Given the description of an element on the screen output the (x, y) to click on. 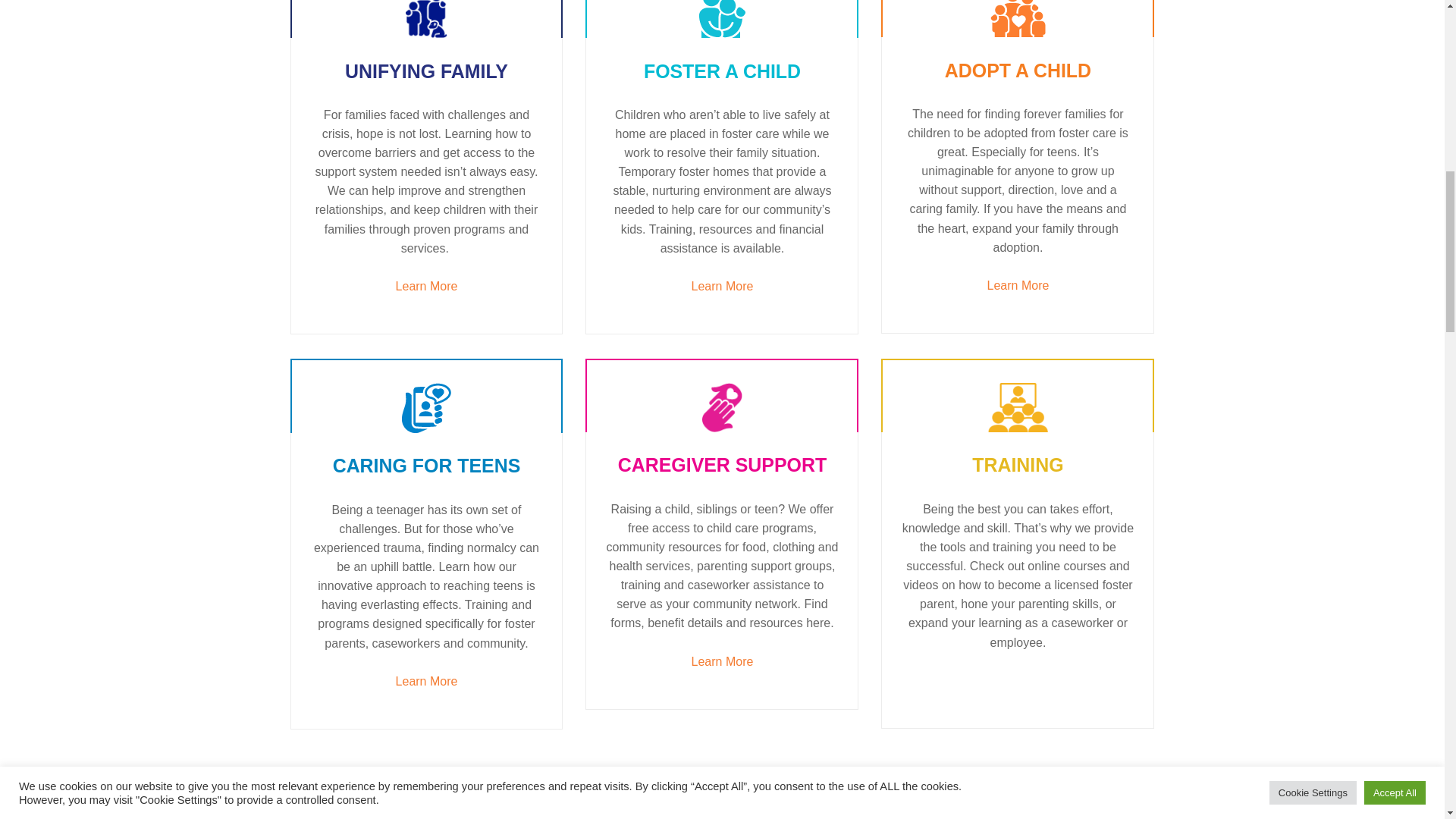
Learn More (427, 286)
Learn More (1018, 285)
Learn More (427, 680)
Learn More (722, 286)
